Given the description of an element on the screen output the (x, y) to click on. 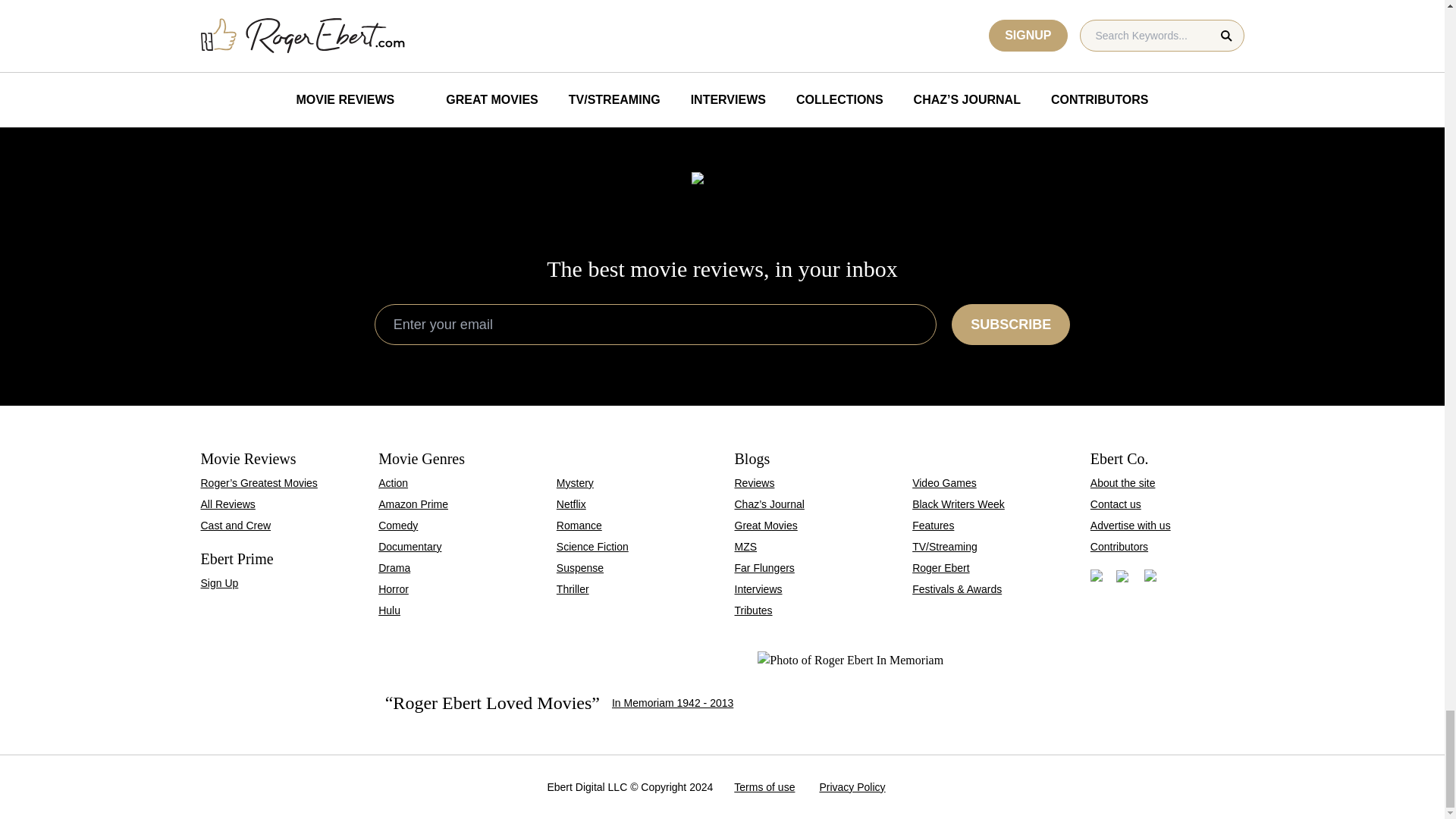
Subscribe (1011, 323)
Subscribe (588, 22)
